Given the description of an element on the screen output the (x, y) to click on. 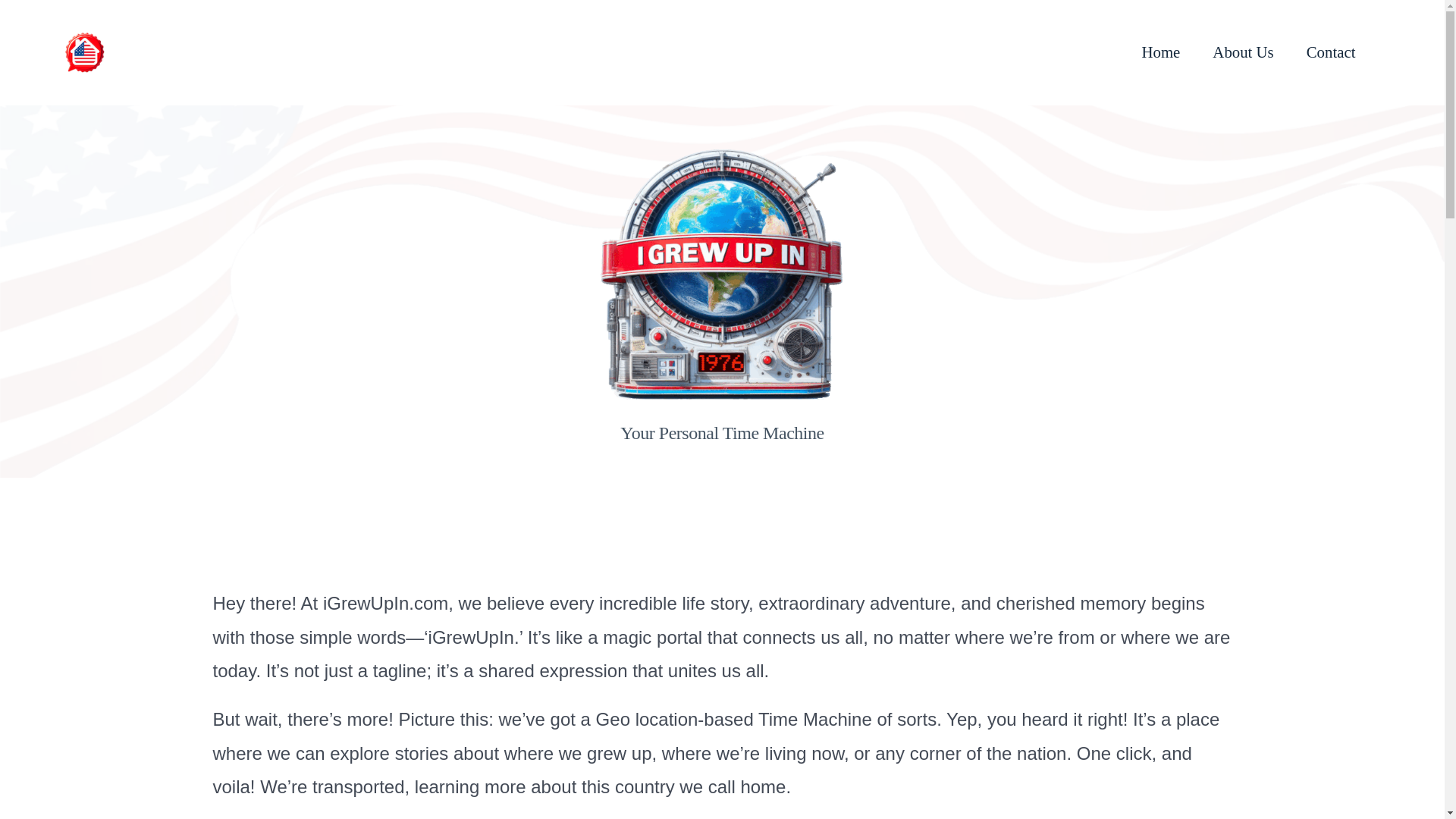
Home (1160, 51)
About Us (1242, 51)
Contact (1330, 51)
